Given the description of an element on the screen output the (x, y) to click on. 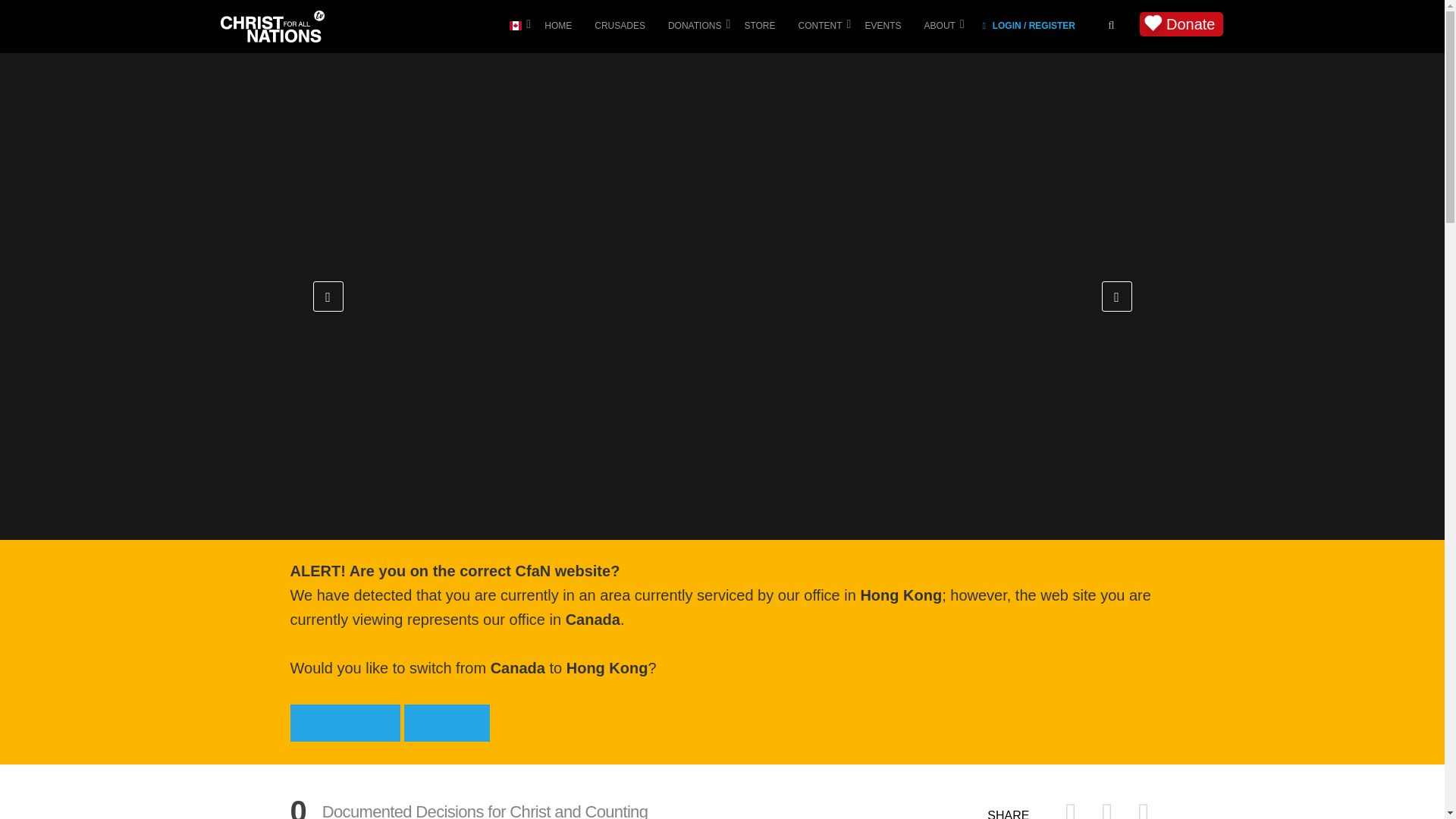
HOME (569, 31)
CRUSADES (631, 31)
EVENTS (894, 31)
DONATIONS (706, 31)
CONTENT (830, 31)
STORE (770, 31)
